Given the description of an element on the screen output the (x, y) to click on. 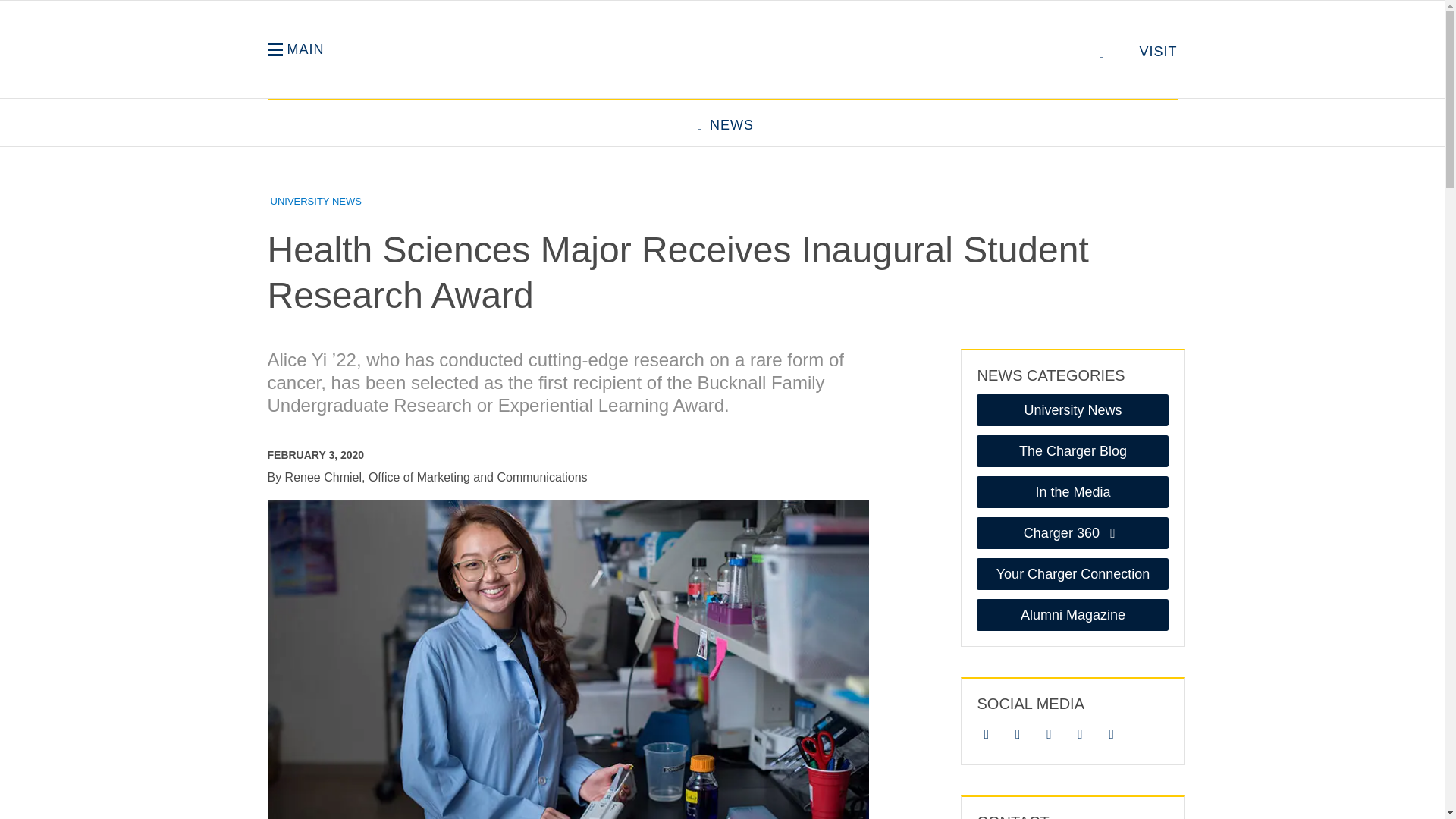
MAIN (294, 49)
University of New Haven (722, 54)
Visit (1157, 51)
VISIT (1157, 51)
University of New Haven (722, 54)
